Given the description of an element on the screen output the (x, y) to click on. 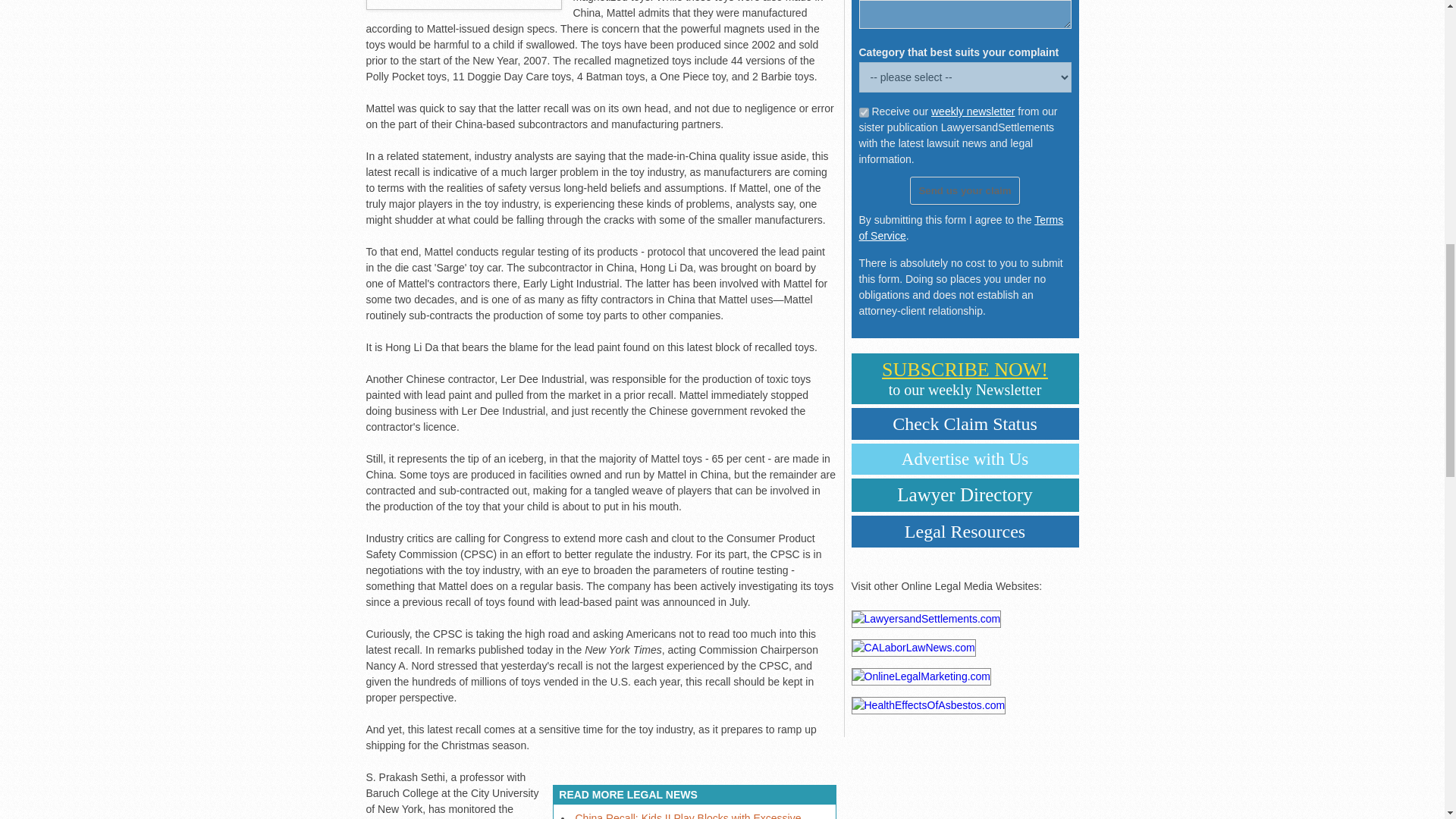
Advertise with Us (964, 459)
Check Claim Status (964, 423)
Lawyer Directory (964, 494)
weekly newsletter (972, 111)
Terms of Service (960, 227)
China Recall: Kids II Play Blocks with Excessive Lead Paint (964, 378)
Send us your claim (681, 815)
1 (964, 190)
Legal Resources (863, 112)
